Given the description of an element on the screen output the (x, y) to click on. 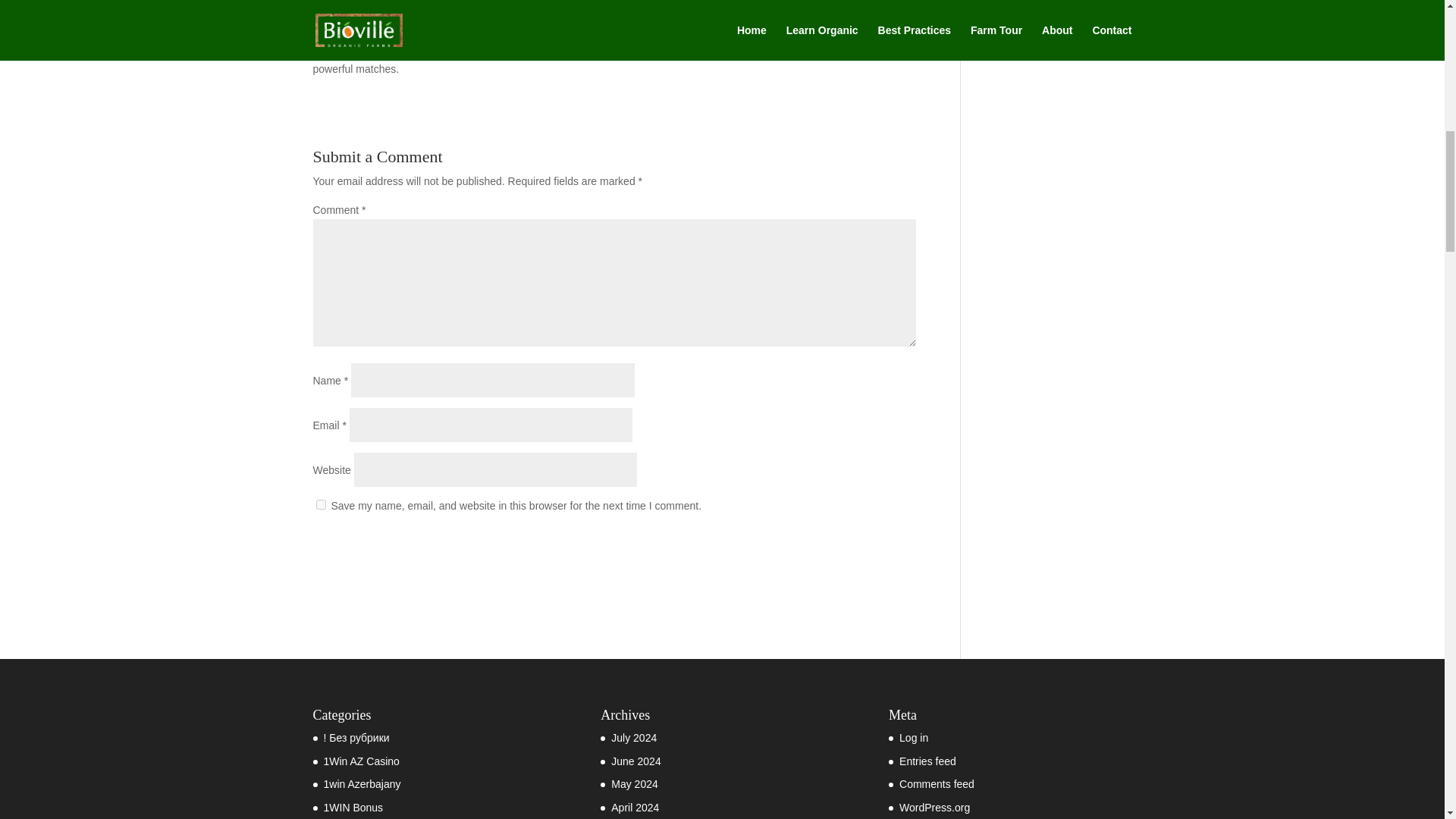
Submit Comment (840, 545)
1win Azerbajany (361, 784)
Submit Comment (840, 545)
yes (319, 504)
1Win AZ Casino (360, 761)
1WIN Bonus (352, 807)
